Given the description of an element on the screen output the (x, y) to click on. 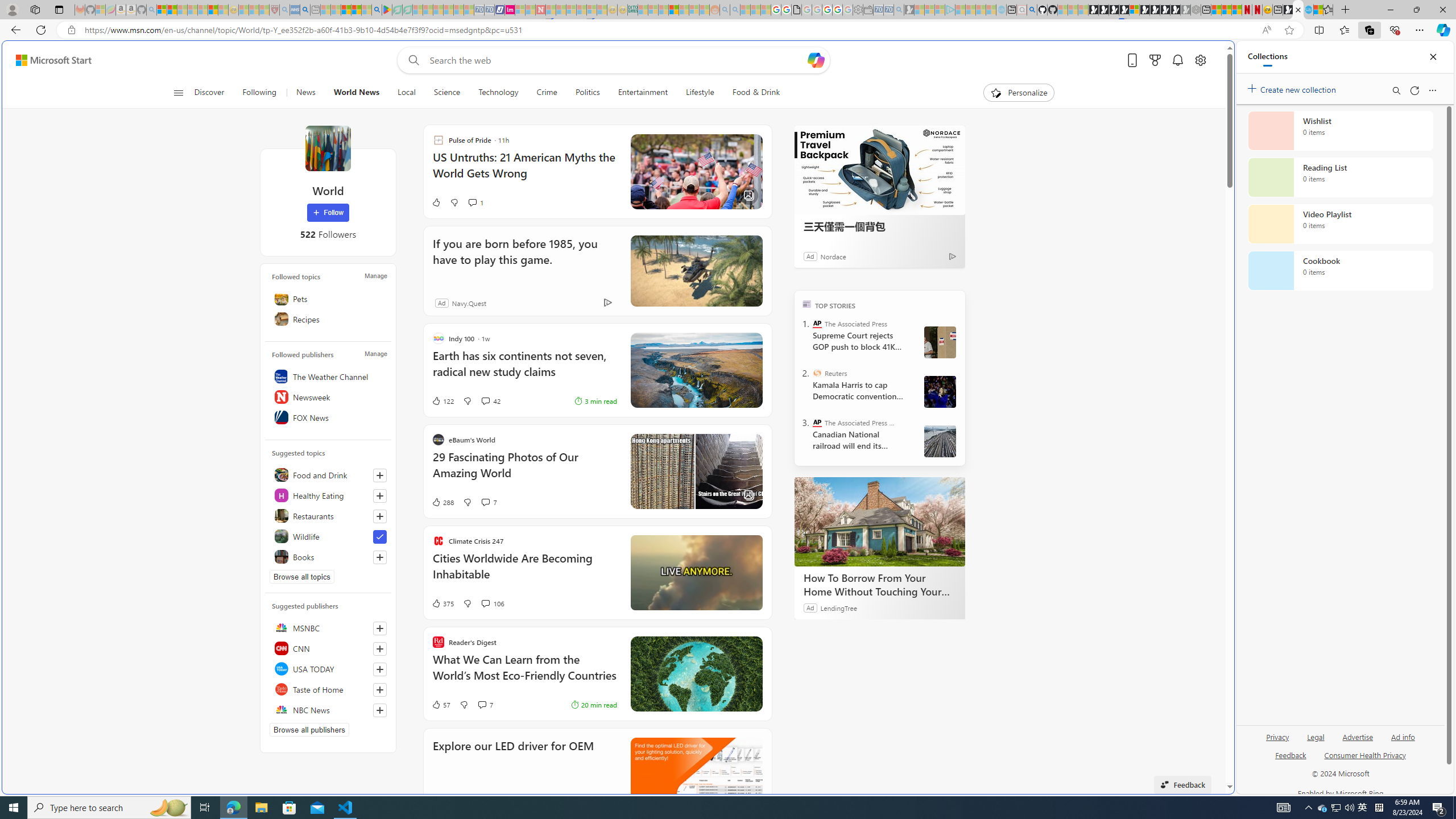
Browse all publishers (309, 729)
US Untruths: 21 American Myths the World Gets Wrong (524, 171)
Unfollow this topic (379, 536)
